Given the description of an element on the screen output the (x, y) to click on. 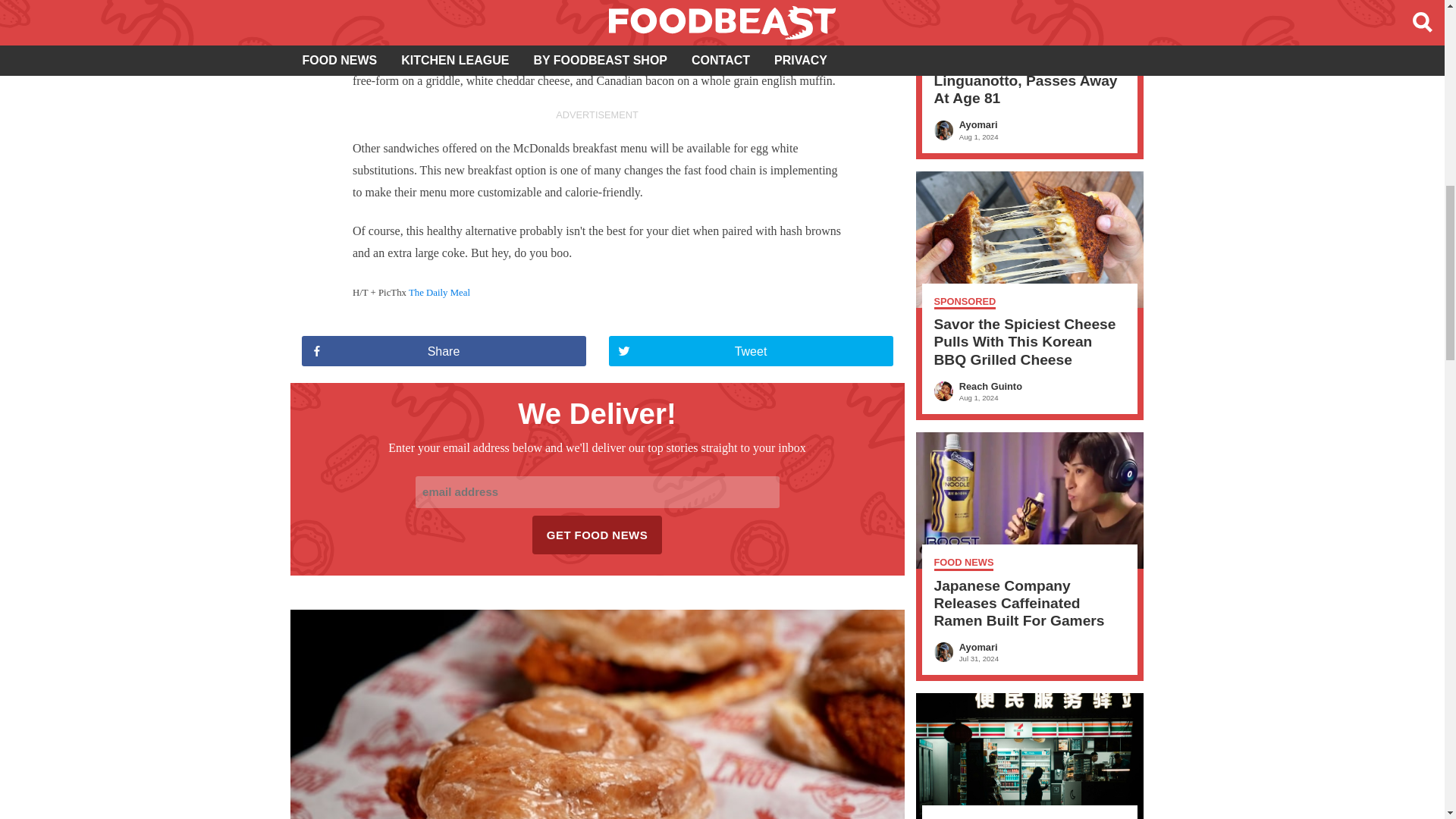
Tweet (750, 350)
Share (443, 350)
GET FOOD NEWS (597, 534)
The Daily Meal (439, 292)
GET FOOD NEWS (597, 534)
